Given the description of an element on the screen output the (x, y) to click on. 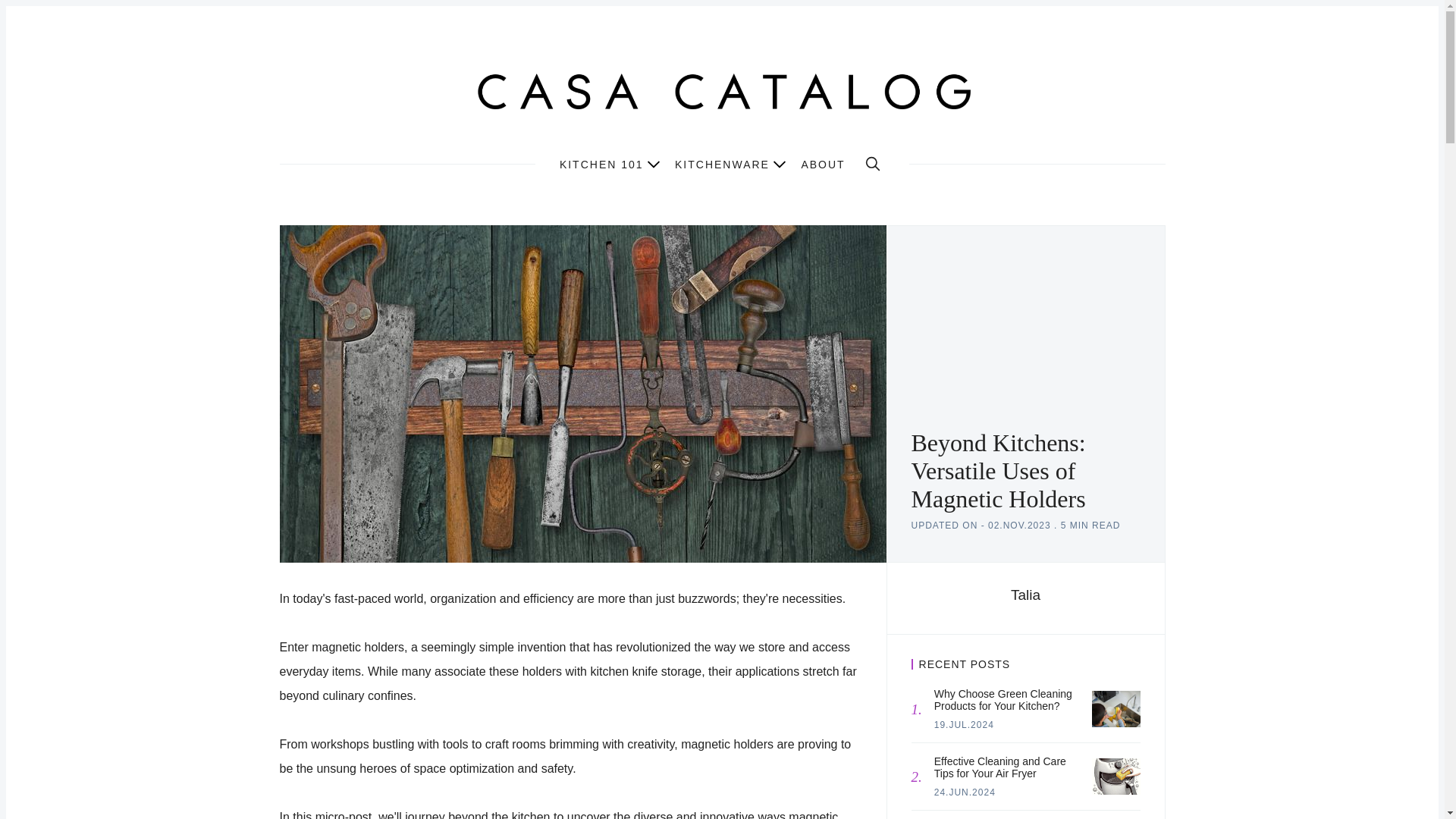
KITCHEN 101 (609, 162)
ABOUT (822, 163)
Effective Cleaning and Care Tips for Your Air Fryer (1116, 776)
Why Choose Green Cleaning Products for Your Kitchen? (1116, 709)
KITCHENWARE (730, 162)
24 June 2024 (964, 792)
19 July 2024 (964, 724)
